Given the description of an element on the screen output the (x, y) to click on. 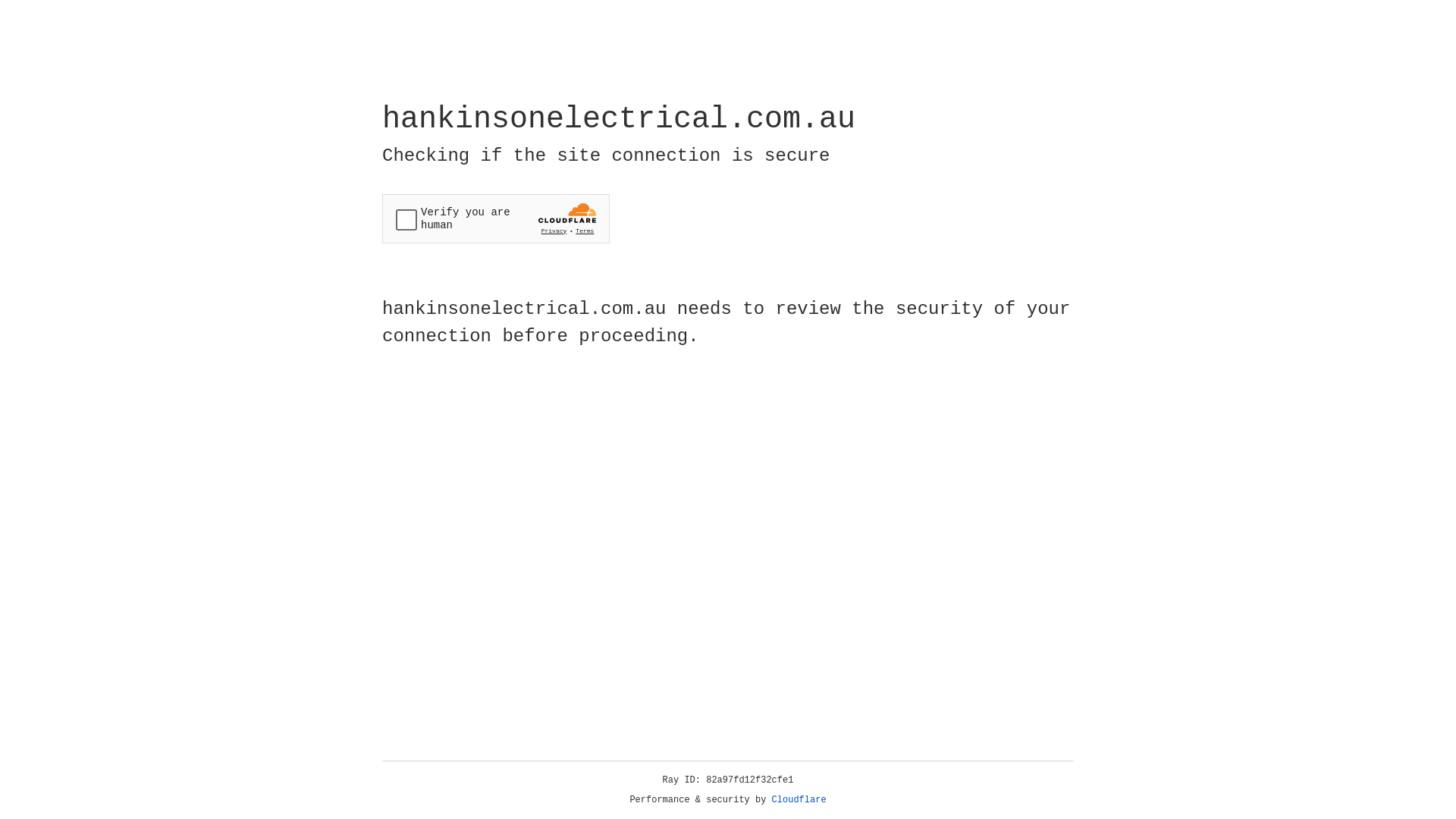
Widget containing a Cloudflare security challenge Element type: hover (495, 218)
Cloudflare Element type: text (798, 799)
